Given the description of an element on the screen output the (x, y) to click on. 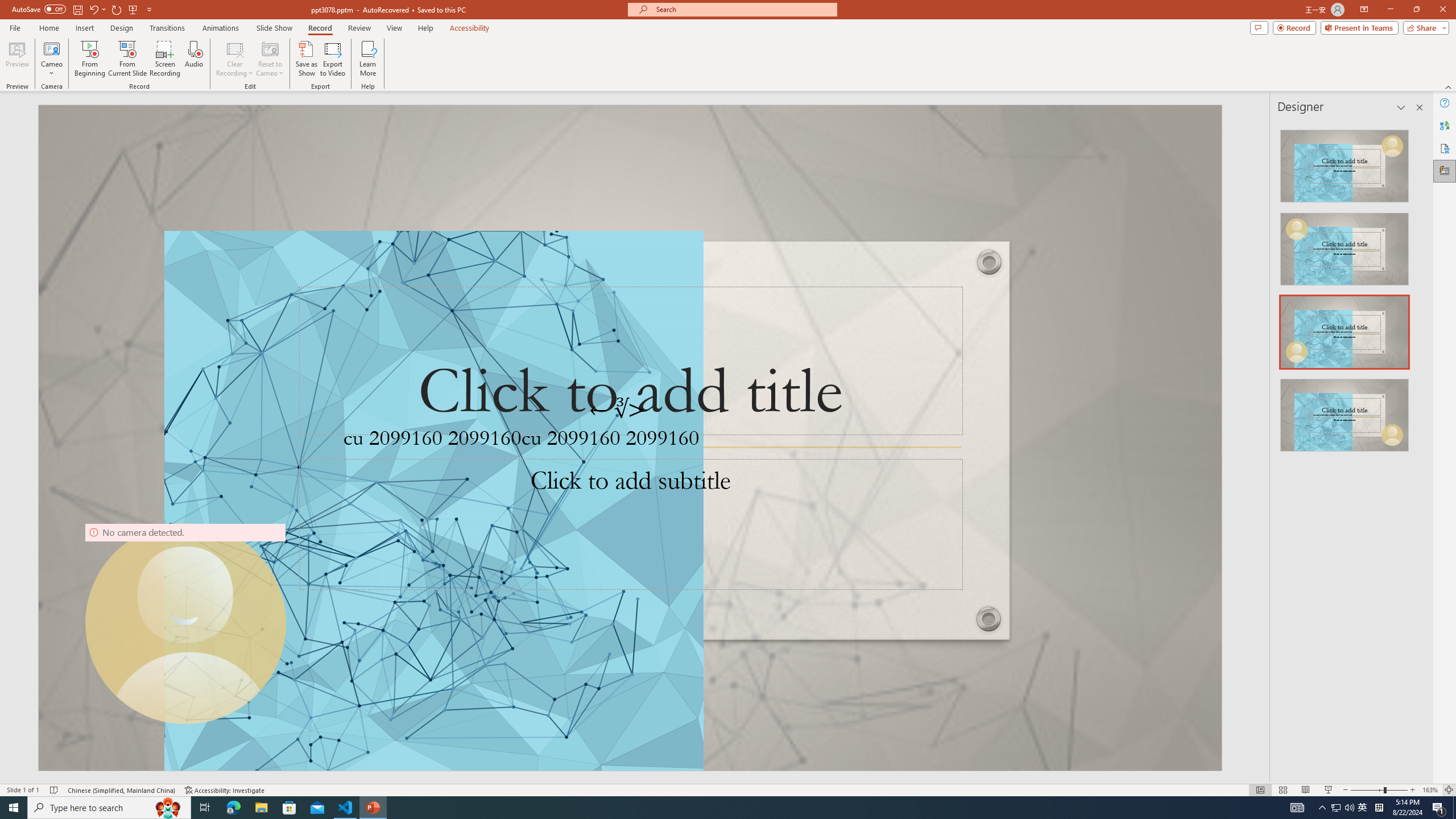
TextBox 61 (628, 440)
An abstract genetic concept (630, 437)
Recommended Design: Design Idea (1344, 162)
Clear Recording (234, 58)
Class: MsoCommandBar (728, 789)
